Given the description of an element on the screen output the (x, y) to click on. 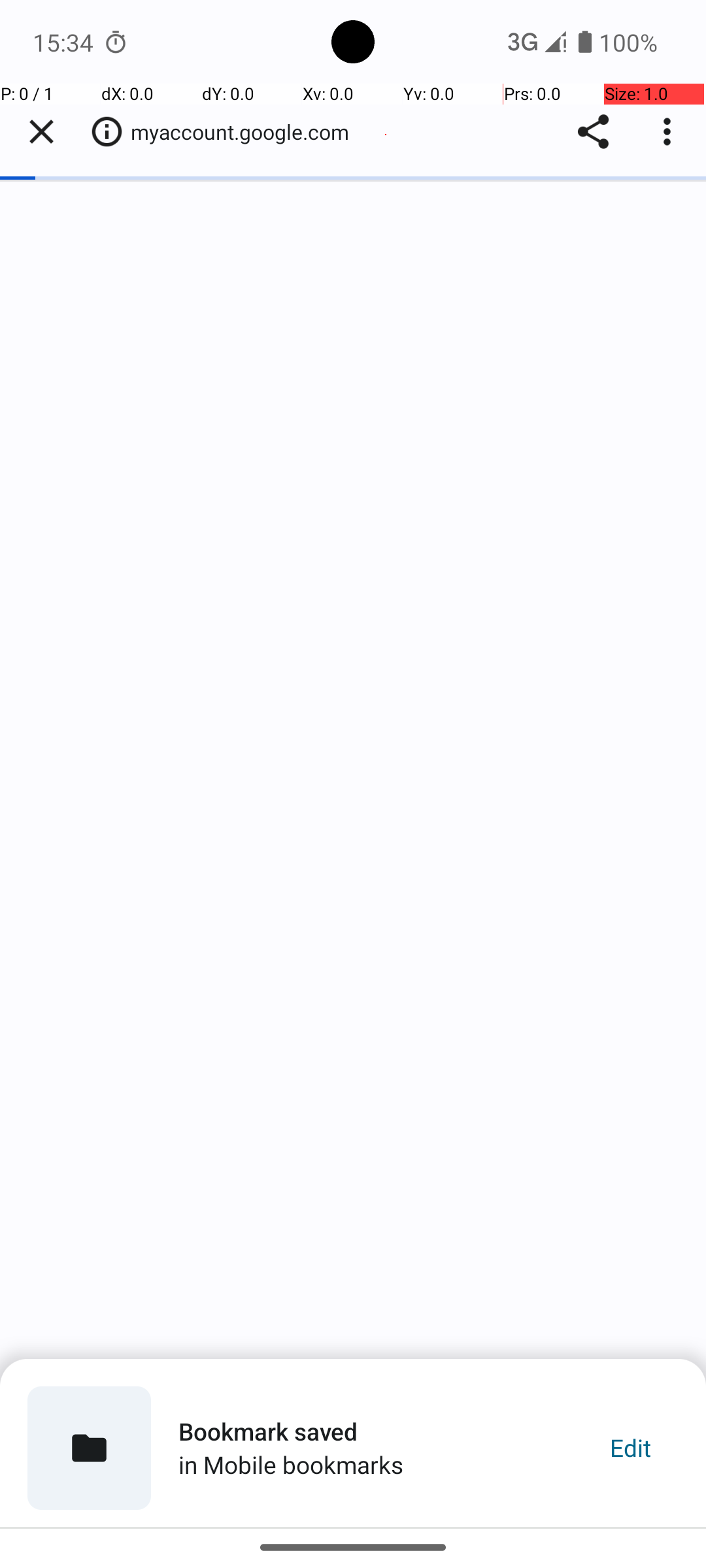
Web View Element type: android.widget.FrameLayout (353, 804)
Bookmark save flow. Swipe down to close. Element type: android.widget.FrameLayout (353, 1442)
myaccount.google.com Element type: android.widget.TextView (246, 131)
Edit folder Element type: android.widget.ImageView (89, 1447)
Edit Element type: android.widget.Button (630, 1447)
Bookmark saved Element type: android.widget.TextView (268, 1430)
in Mobile bookmarks Element type: android.widget.TextView (290, 1464)
